Given the description of an element on the screen output the (x, y) to click on. 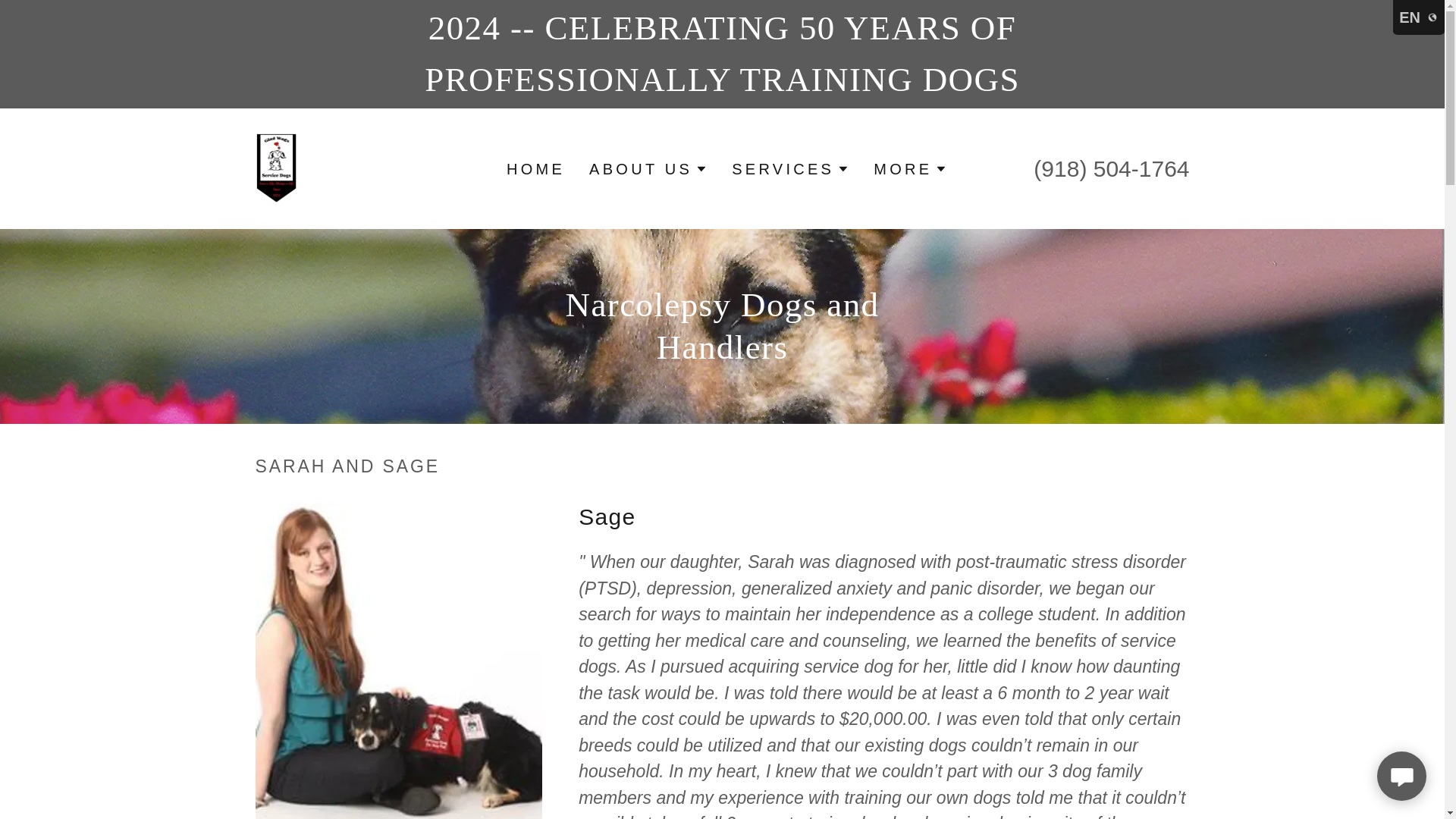
ABOUT US (648, 167)
GLAD WAGS SERVICE DOGS (275, 167)
MORE (910, 167)
HOME (535, 167)
SERVICES (790, 167)
